Given the description of an element on the screen output the (x, y) to click on. 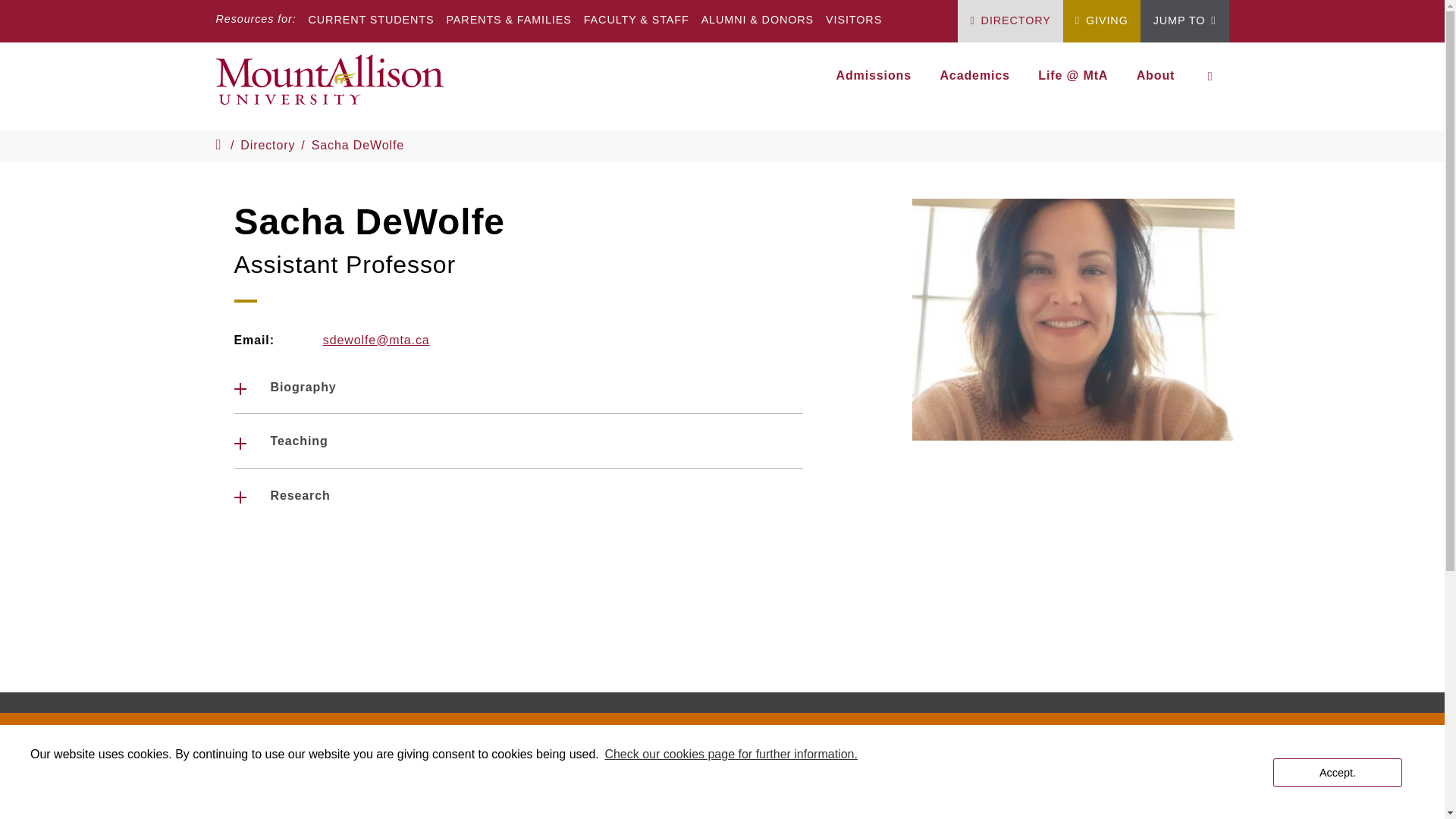
Check our cookies page for further information. (731, 753)
Skip to main content (721, 3)
Accept. (1337, 772)
Home (335, 86)
